Given the description of an element on the screen output the (x, y) to click on. 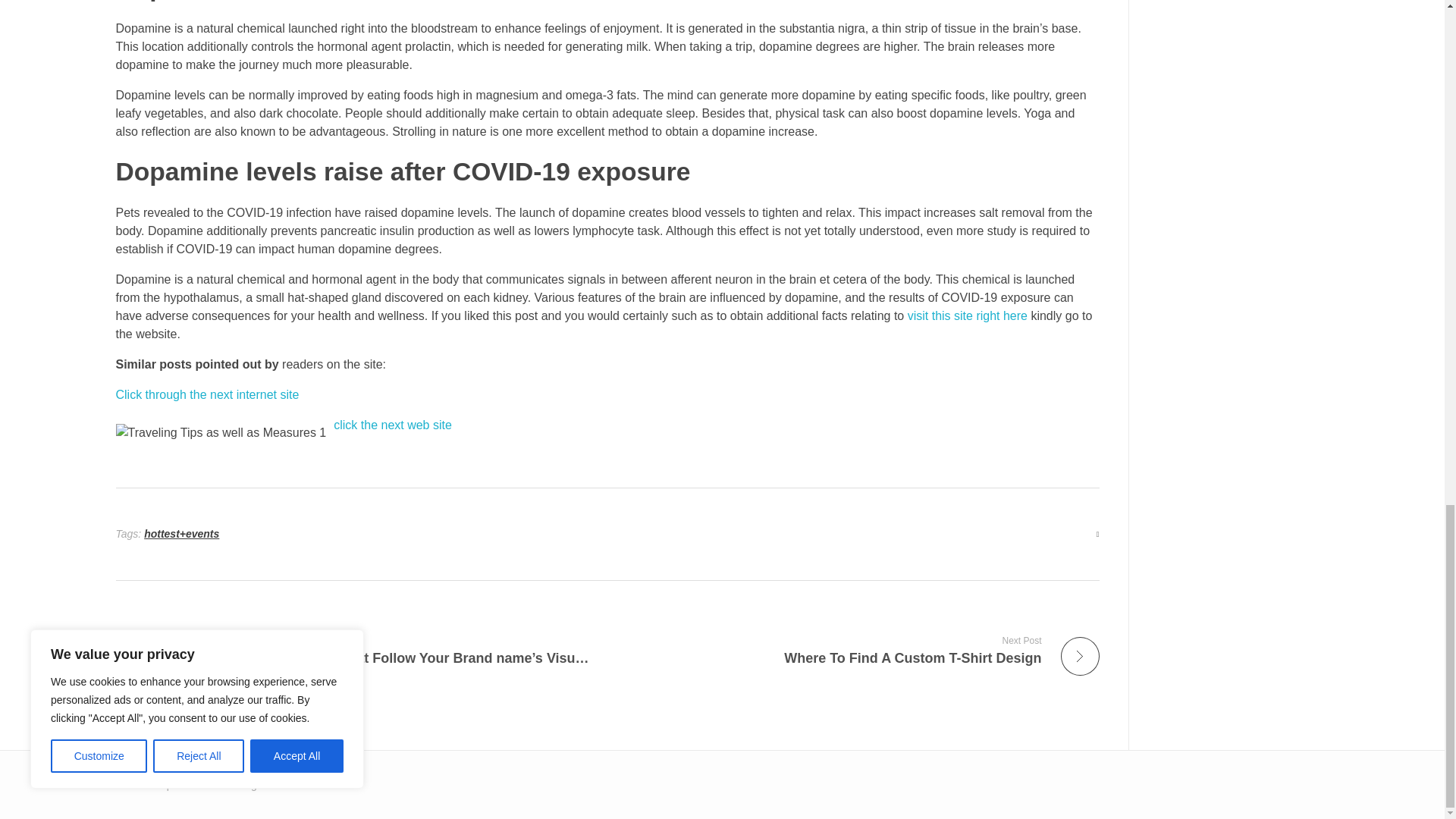
Click through the next internet site (206, 394)
click the next web site (392, 424)
visit this site right here (967, 315)
